Given the description of an element on the screen output the (x, y) to click on. 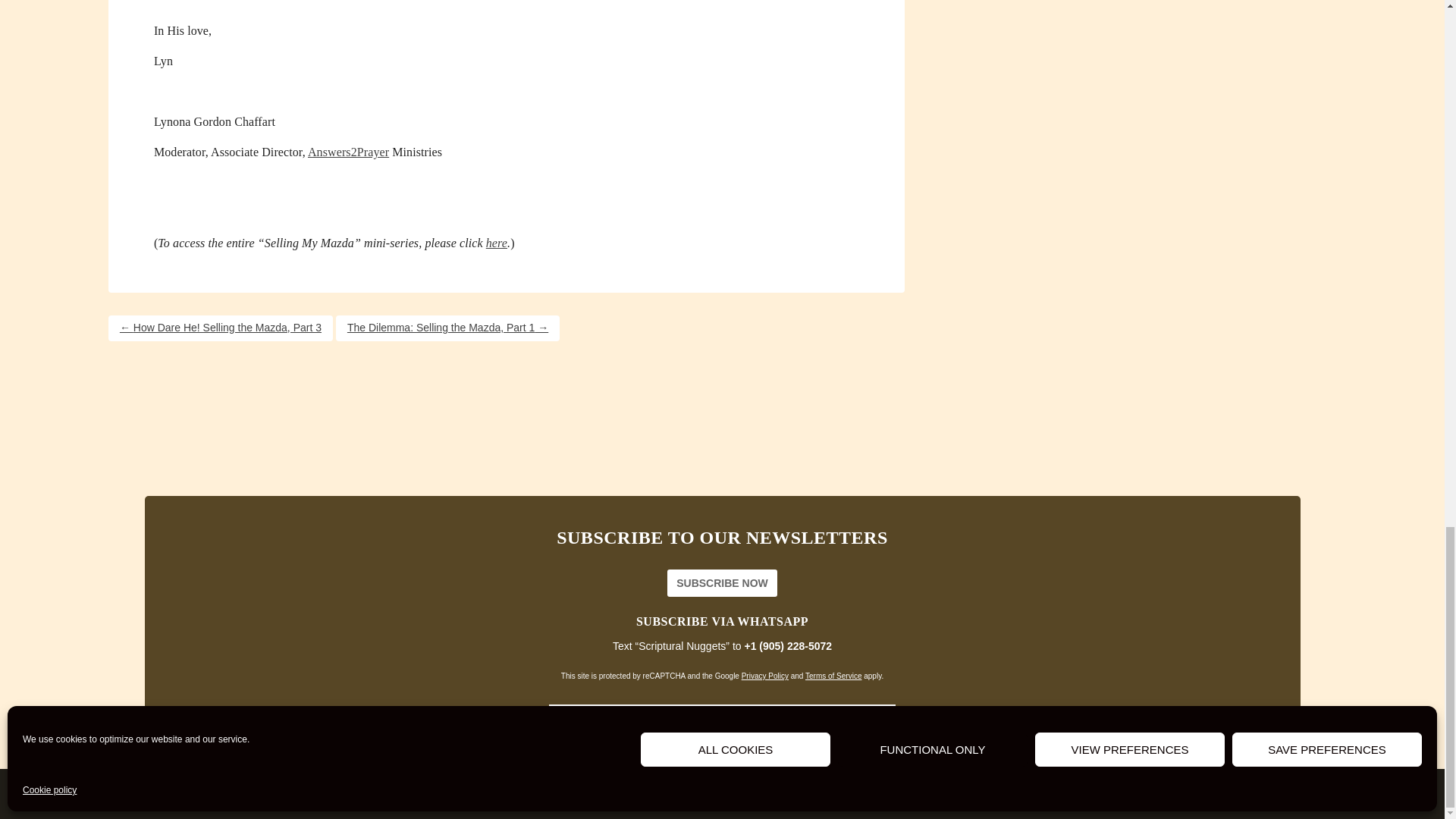
Subscribe now (721, 583)
Answers2Prayer (347, 151)
here (496, 242)
